Given the description of an element on the screen output the (x, y) to click on. 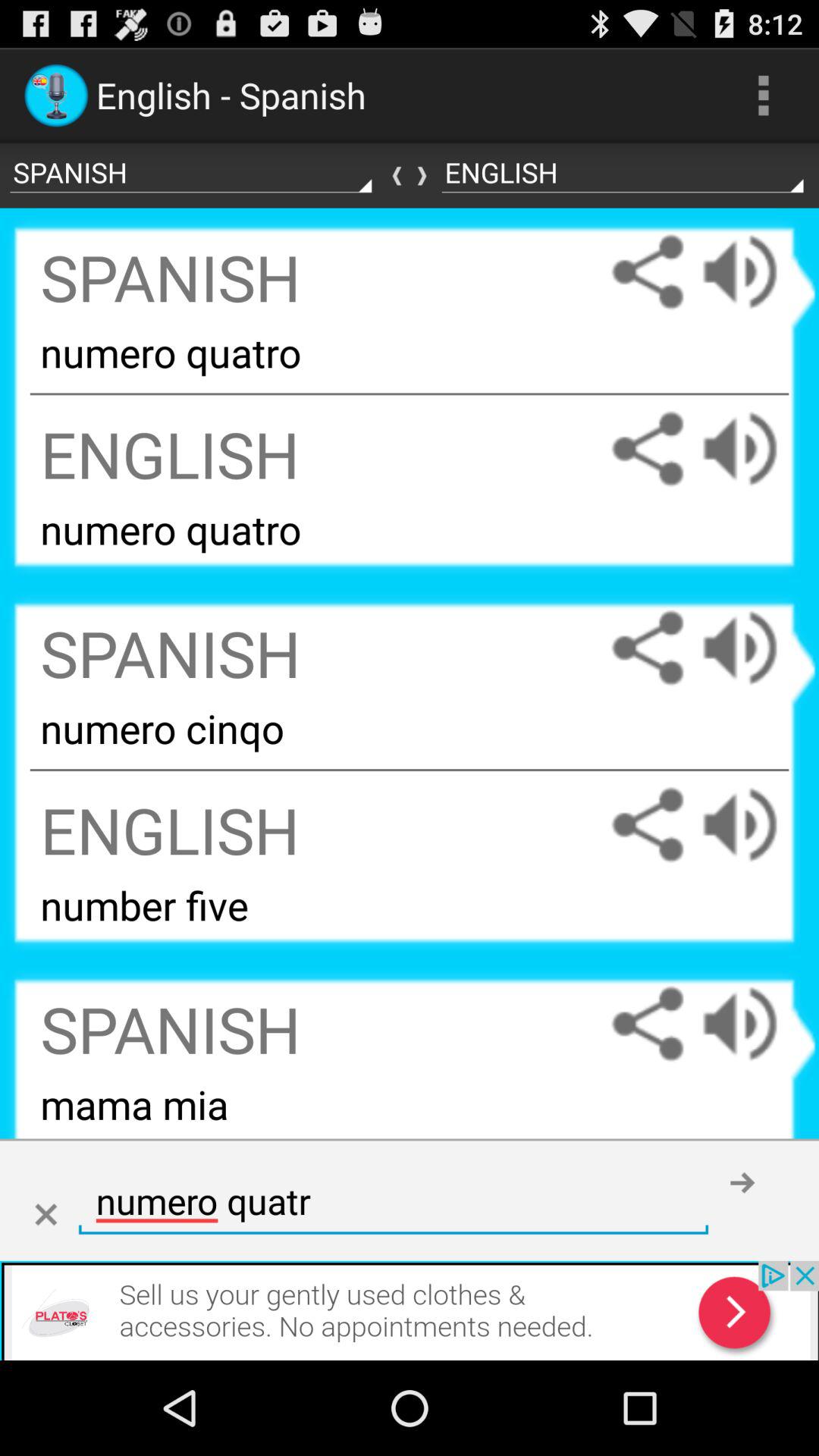
play audio (754, 647)
